Given the description of an element on the screen output the (x, y) to click on. 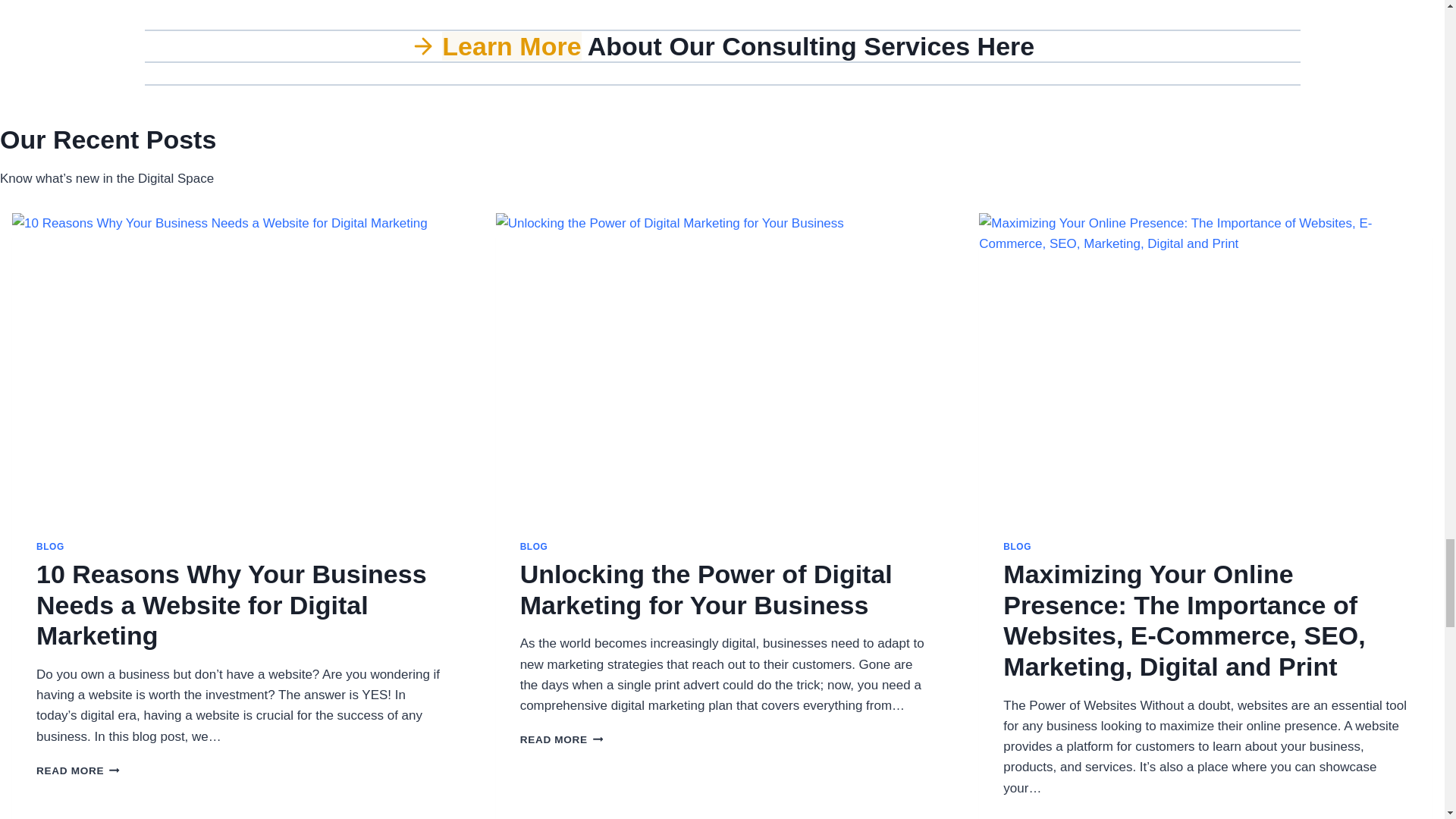
Learn More (511, 45)
BLOG (533, 546)
BLOG (1016, 546)
BLOG (50, 546)
Unlocking the Power of Digital Marketing for Your Business (705, 589)
